Given the description of an element on the screen output the (x, y) to click on. 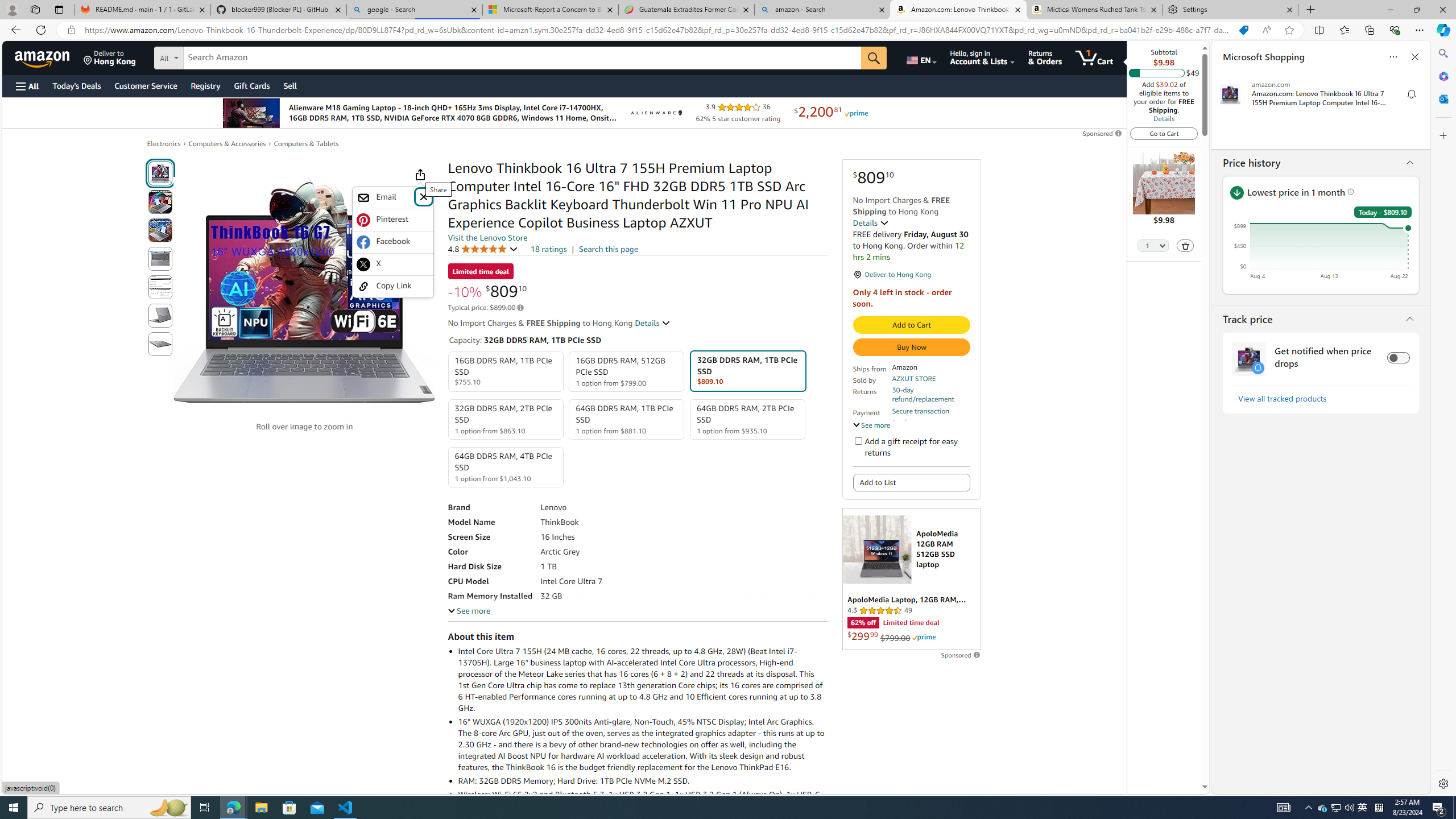
Sell (290, 85)
4.8 4.8 out of 5 stars (482, 248)
Delete (1185, 245)
Search in (210, 56)
Buy Now (911, 347)
Deliver to Hong Kong (109, 57)
Copy Link (392, 286)
Hello, sign in Account & Lists (982, 57)
